Given the description of an element on the screen output the (x, y) to click on. 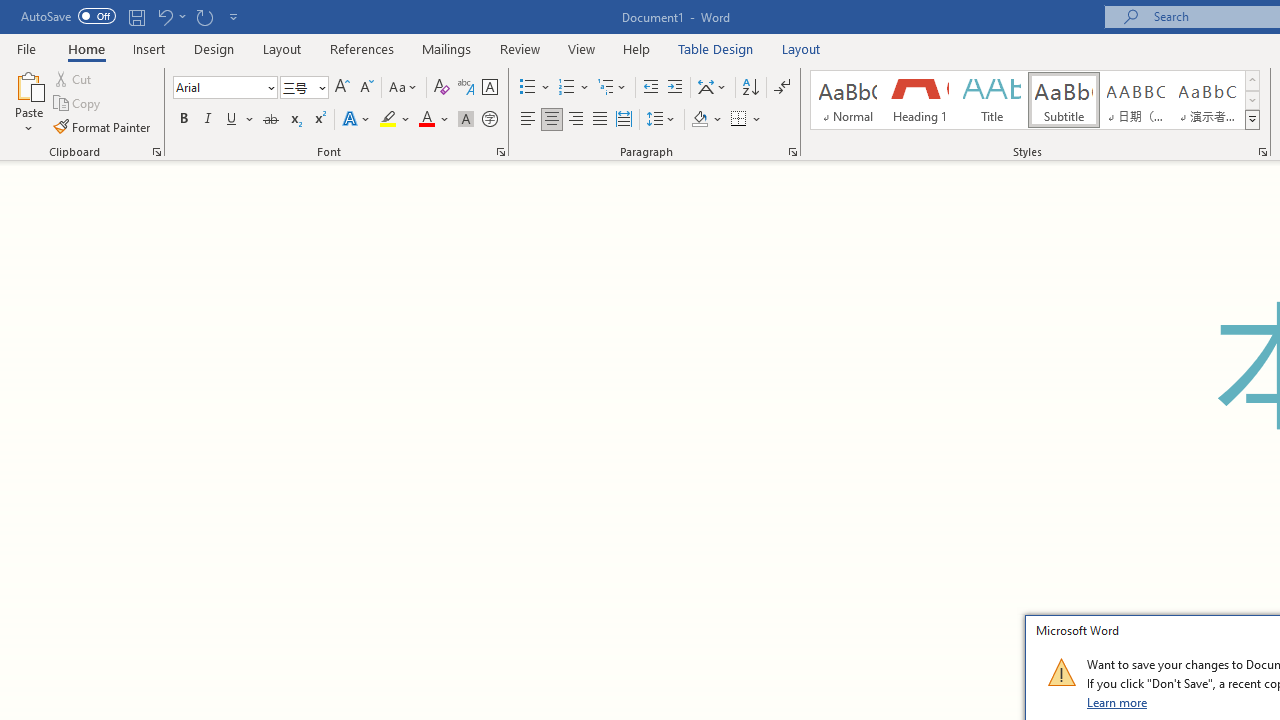
AutomationID: QuickStylesGallery (1035, 99)
Undo Paste (164, 15)
Learn more (1118, 702)
